Given the description of an element on the screen output the (x, y) to click on. 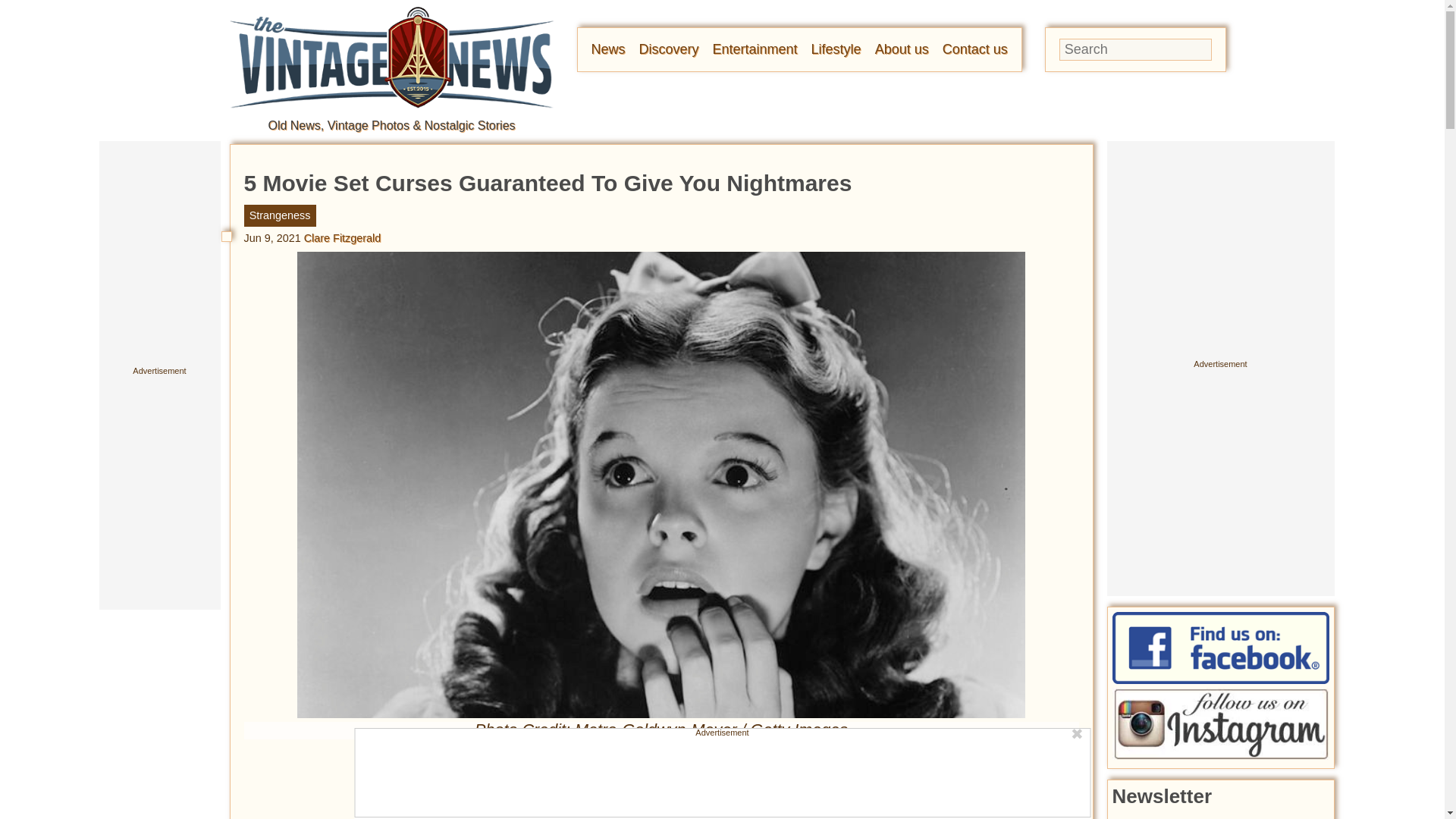
News (608, 48)
Contact us (974, 48)
Discovery (668, 48)
Lifestyle (835, 48)
Entertainment (755, 48)
About us (901, 48)
